Given the description of an element on the screen output the (x, y) to click on. 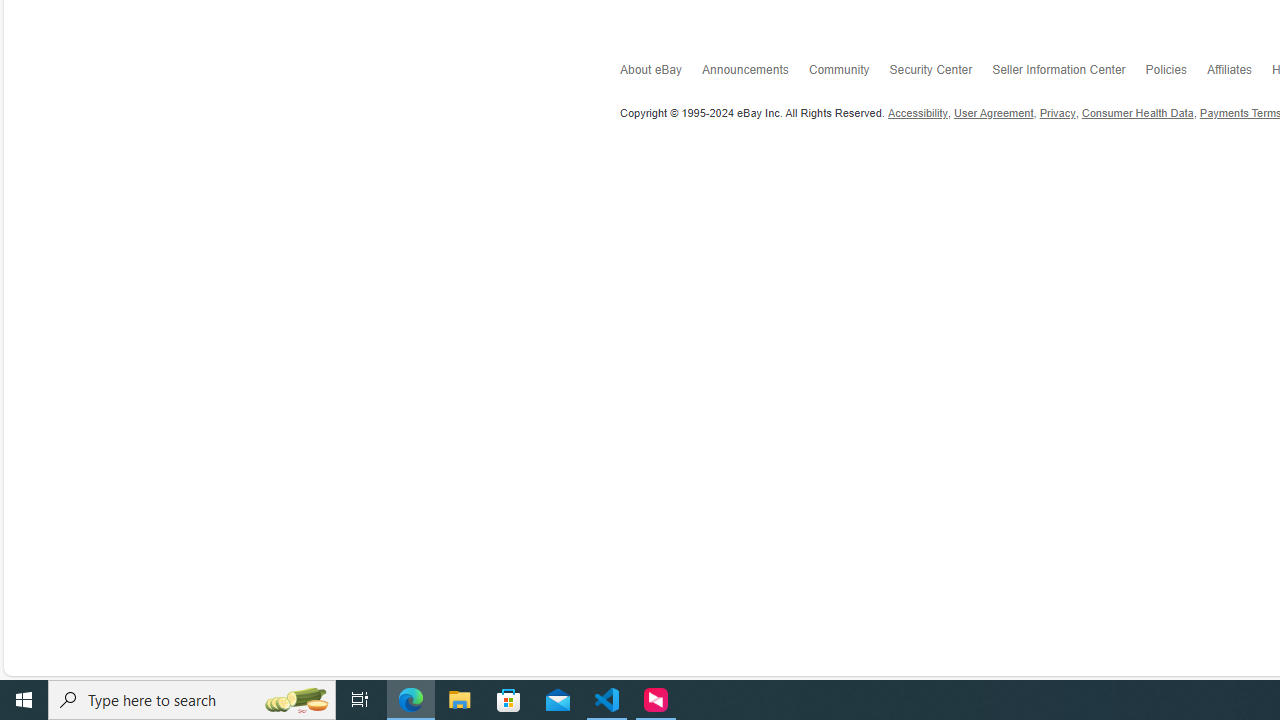
Announcements (754, 73)
Announcements (754, 74)
Security Center (941, 74)
Seller Information Center (1068, 74)
About eBay (660, 73)
Affiliates (1239, 74)
Policies (1176, 74)
Security Center (941, 73)
User Agreement (993, 113)
About eBay (660, 74)
Accessibility (917, 113)
Seller Information Center (1068, 73)
Affiliates (1239, 73)
Policies (1176, 73)
Community (848, 73)
